Given the description of an element on the screen output the (x, y) to click on. 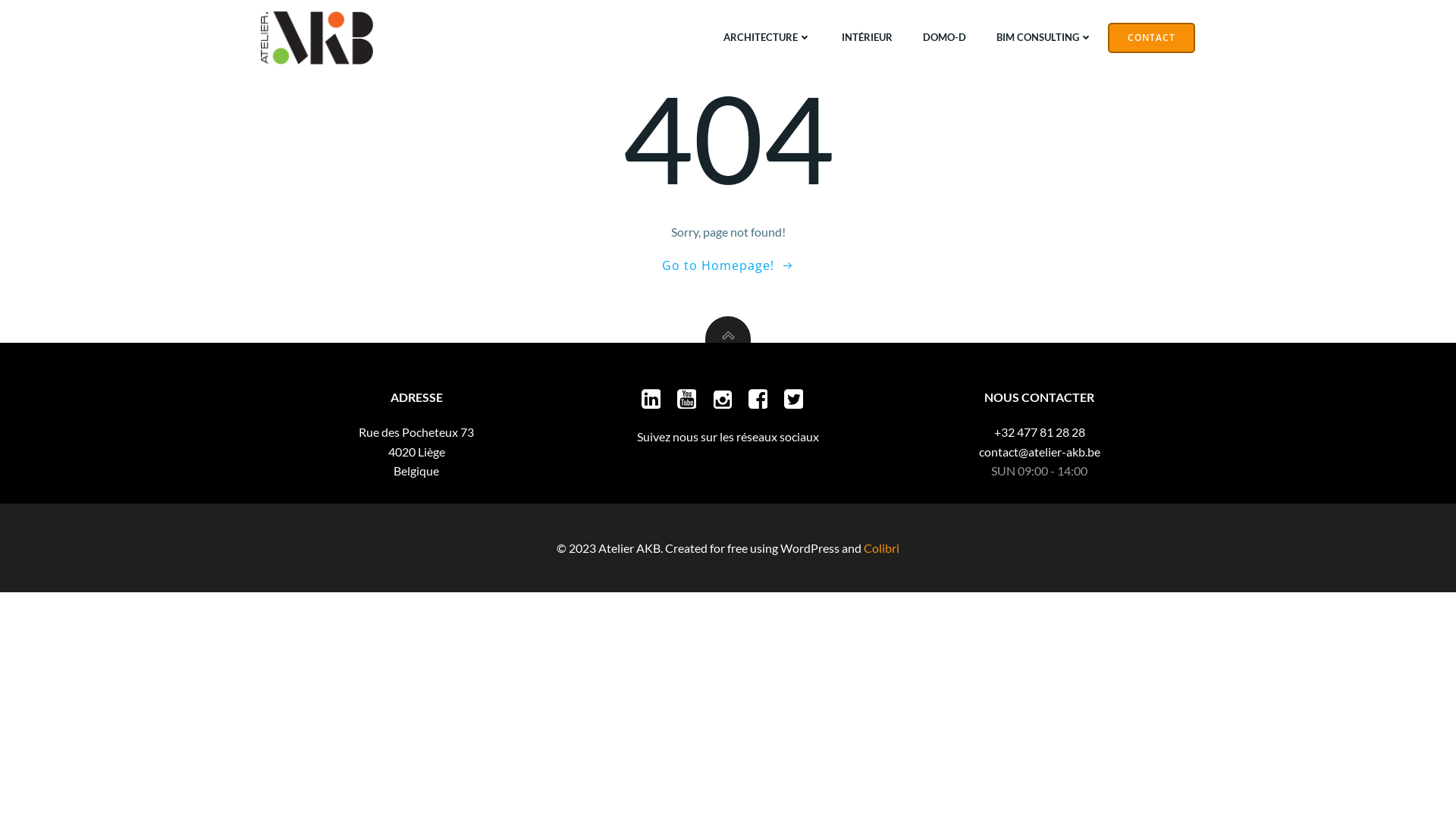
ARCHITECTURE Element type: text (767, 37)
Colibri Element type: text (881, 547)
BIM CONSULTING Element type: text (1044, 37)
DOMO-D Element type: text (944, 37)
CONTACT Element type: text (1151, 37)
Go to Homepage! Element type: text (727, 265)
contact@atelier-akb.be Element type: text (1039, 451)
